Given the description of an element on the screen output the (x, y) to click on. 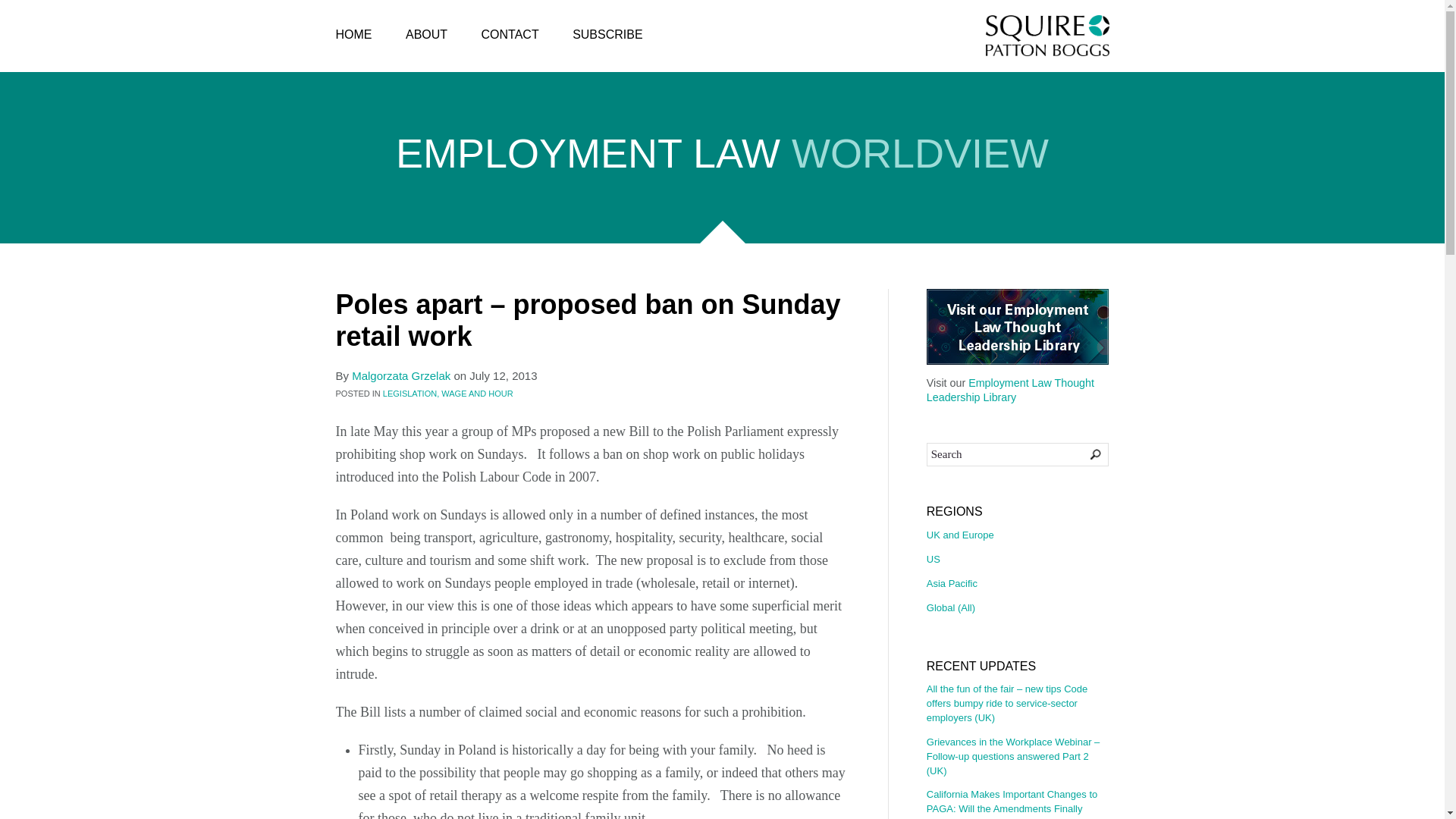
Go (1085, 454)
Employment Law Thought Leadership Library (1010, 389)
CONTACT (509, 34)
Asia Pacific (1017, 584)
Search (1017, 454)
Go (1085, 454)
Malgorzata Grzelak (400, 375)
EMPLOYMENT LAW WORLDVIEW (721, 157)
ABOUT (426, 34)
US (1017, 559)
LEGISLATION, (410, 393)
Go (1085, 454)
SUBSCRIBE (607, 34)
Squire Patton Boggs (1047, 35)
WAGE AND HOUR (476, 393)
